Given the description of an element on the screen output the (x, y) to click on. 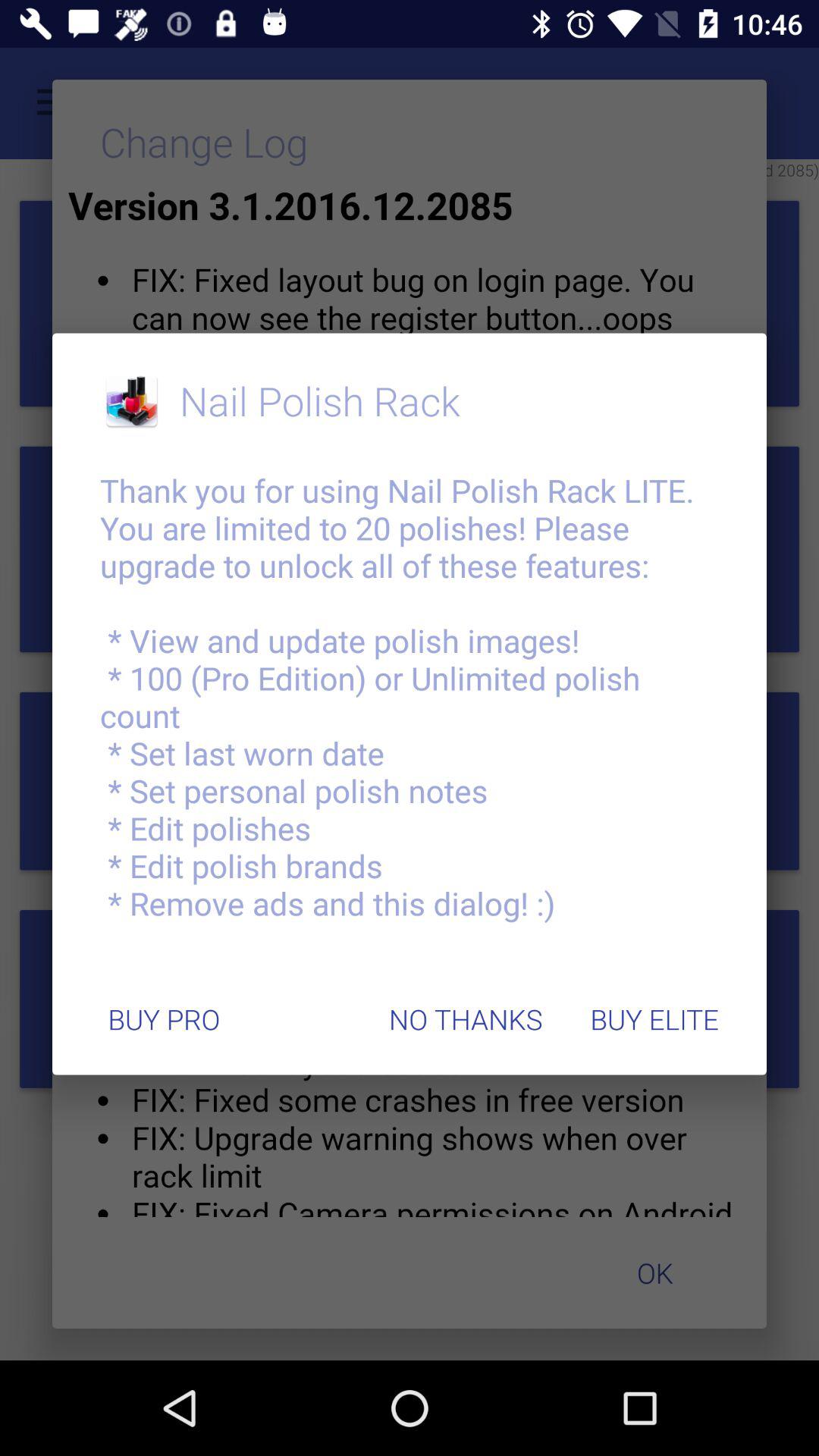
turn on icon next to buy pro item (465, 1018)
